Given the description of an element on the screen output the (x, y) to click on. 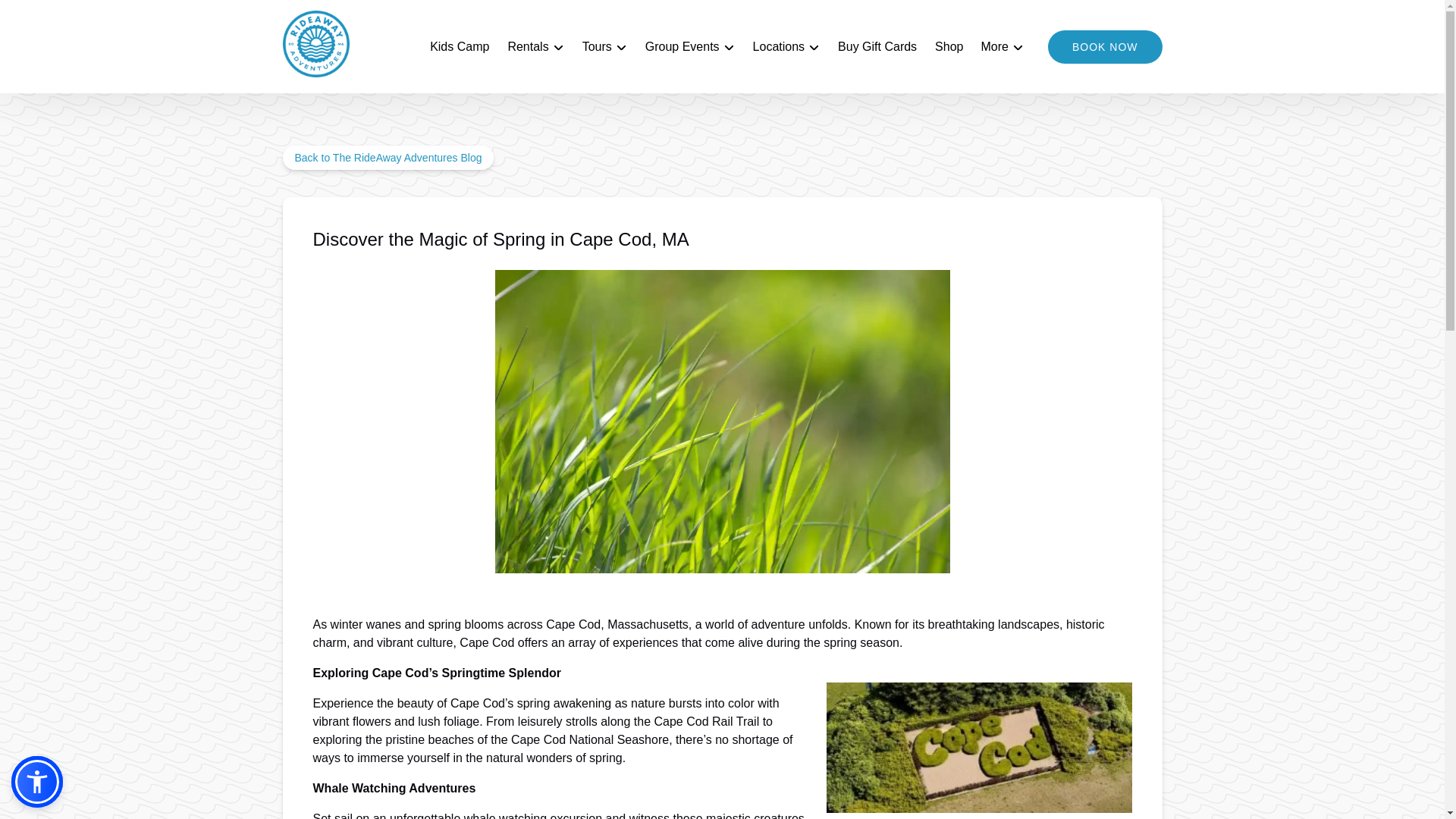
Buy Gift Cards (877, 46)
Rentals (534, 46)
More (1001, 46)
Kids Camp (458, 46)
Open Group Events Menu (693, 42)
Tours (604, 46)
Skip to primary navigation (77, 16)
Group Events (690, 46)
Open Rentals Menu (538, 42)
Shop (949, 46)
Skip to content (47, 16)
Locations (786, 46)
Open More Menu (1005, 42)
Open Tours Menu (608, 42)
Skip to footer (42, 16)
